Given the description of an element on the screen output the (x, y) to click on. 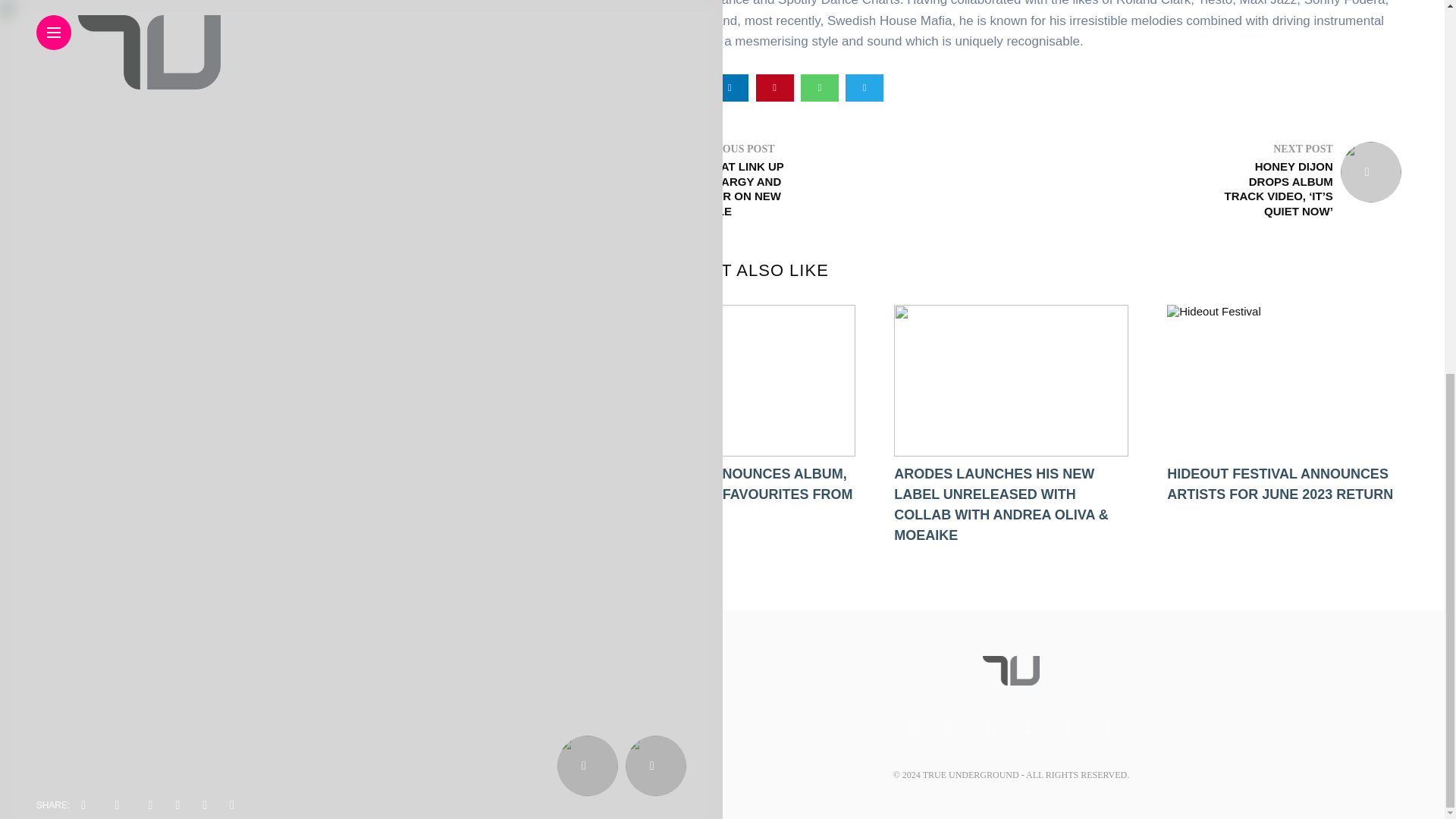
facebook (640, 87)
